Given the description of an element on the screen output the (x, y) to click on. 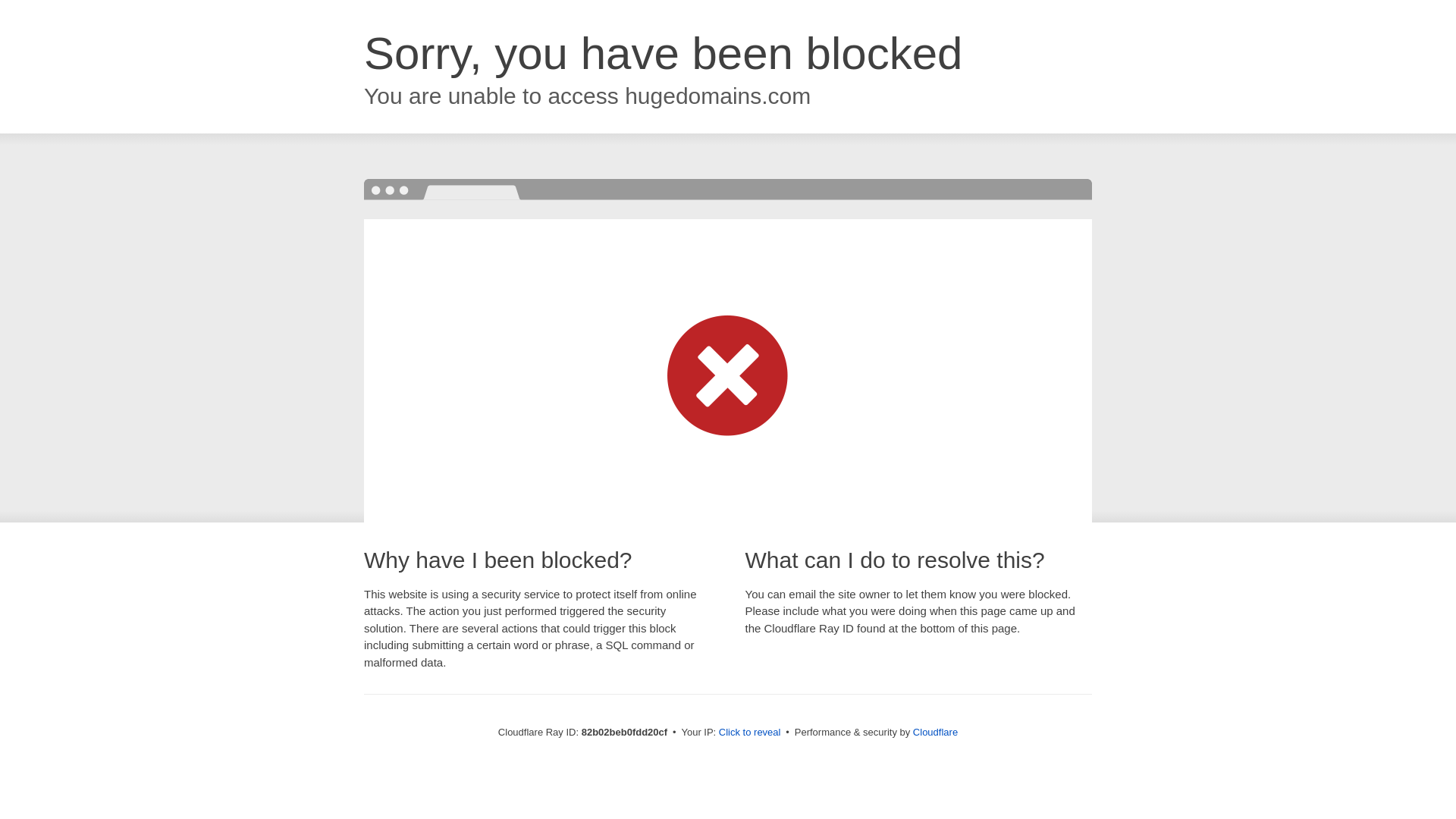
Cloudflare Element type: text (935, 731)
Click to reveal Element type: text (749, 732)
